Given the description of an element on the screen output the (x, y) to click on. 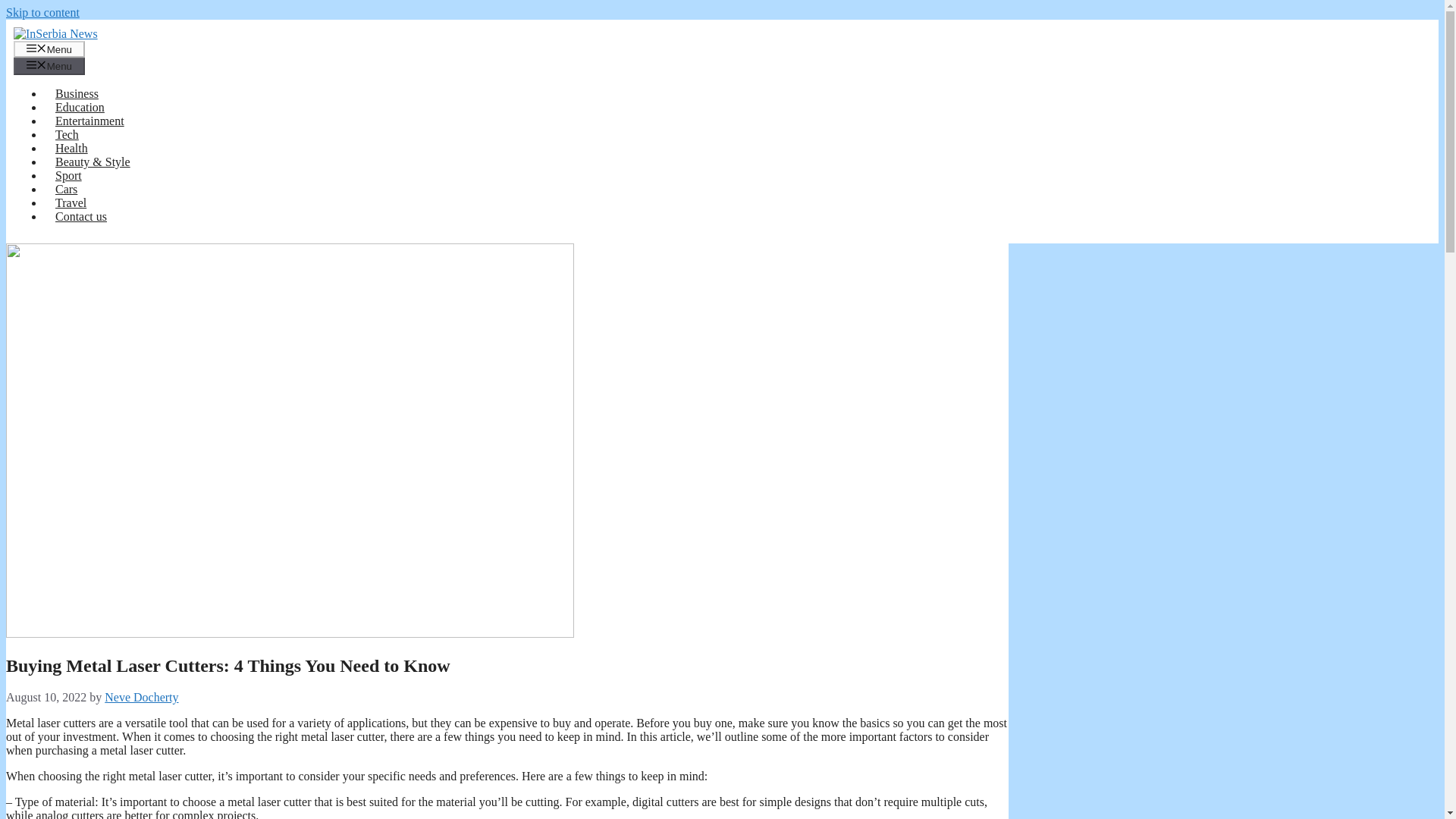
Health (71, 147)
Neve Docherty (140, 697)
Travel (70, 202)
Entertainment (89, 120)
Sport (68, 174)
View all posts by Neve Docherty (140, 697)
Education (79, 106)
Cars (65, 188)
Contact us (80, 215)
Tech (66, 133)
Business (76, 92)
Skip to content (42, 11)
Menu (48, 65)
Skip to content (42, 11)
Menu (48, 48)
